Given the description of an element on the screen output the (x, y) to click on. 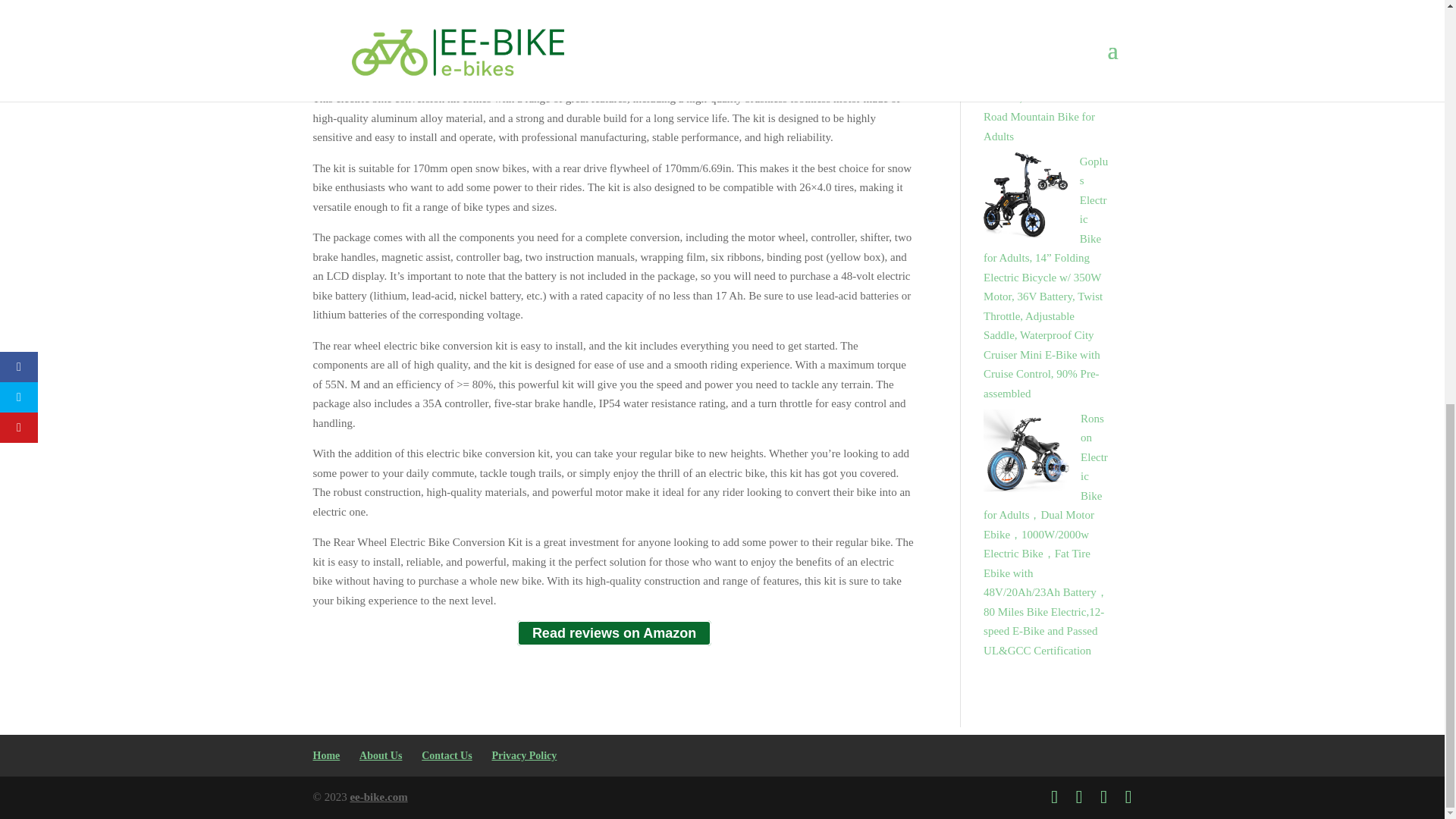
Read reviews on Amazon (613, 633)
Contact Us (446, 755)
About Us (380, 755)
ee-bike.com (378, 797)
Home (326, 755)
Privacy Policy (524, 755)
